Given the description of an element on the screen output the (x, y) to click on. 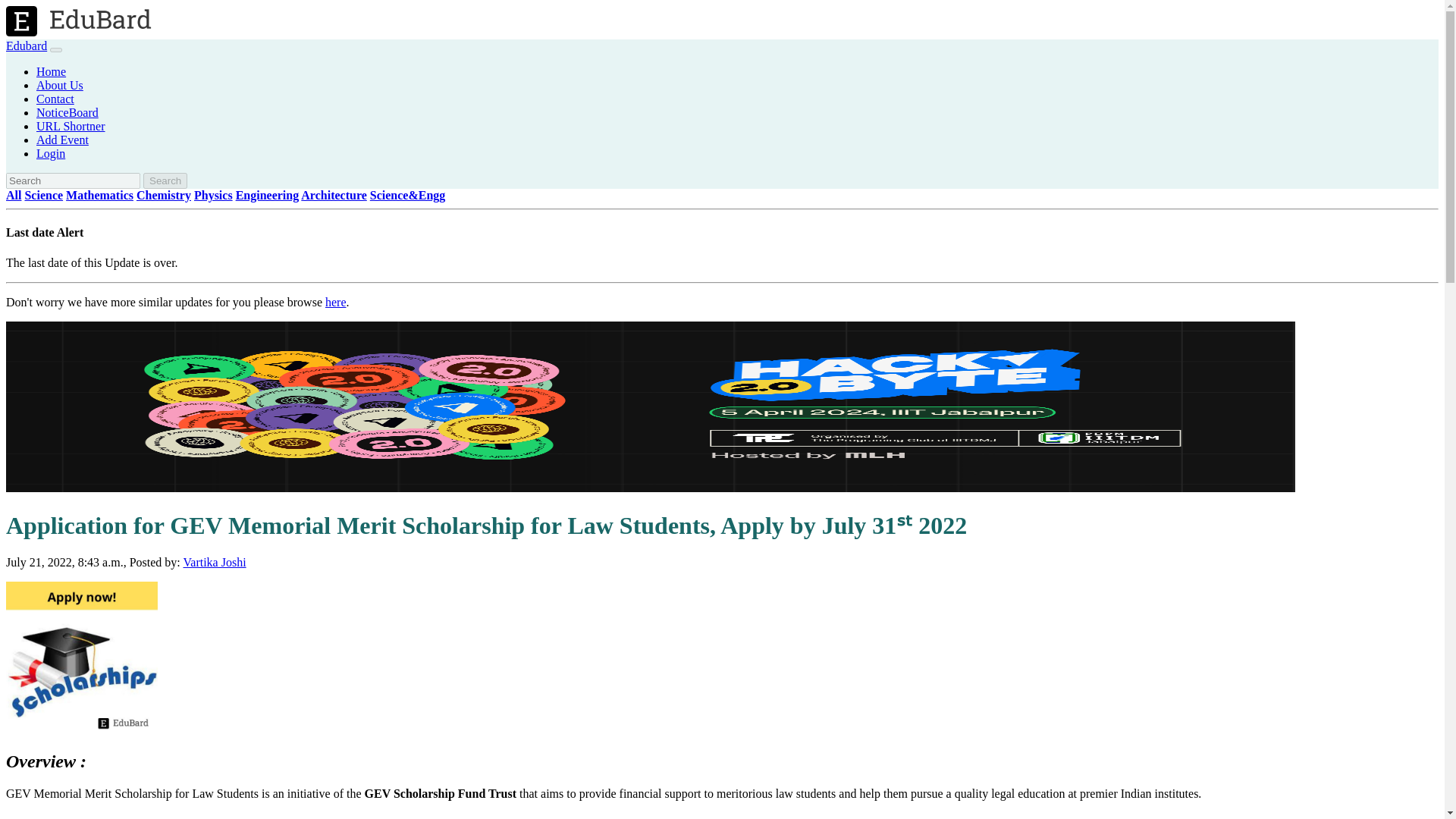
All (13, 195)
NoticeBoard (67, 112)
here (335, 301)
Login (50, 153)
Architecture (333, 195)
Science (43, 195)
Physics (212, 195)
About Us (59, 84)
Engineering (267, 195)
Add Event (62, 139)
